Given the description of an element on the screen output the (x, y) to click on. 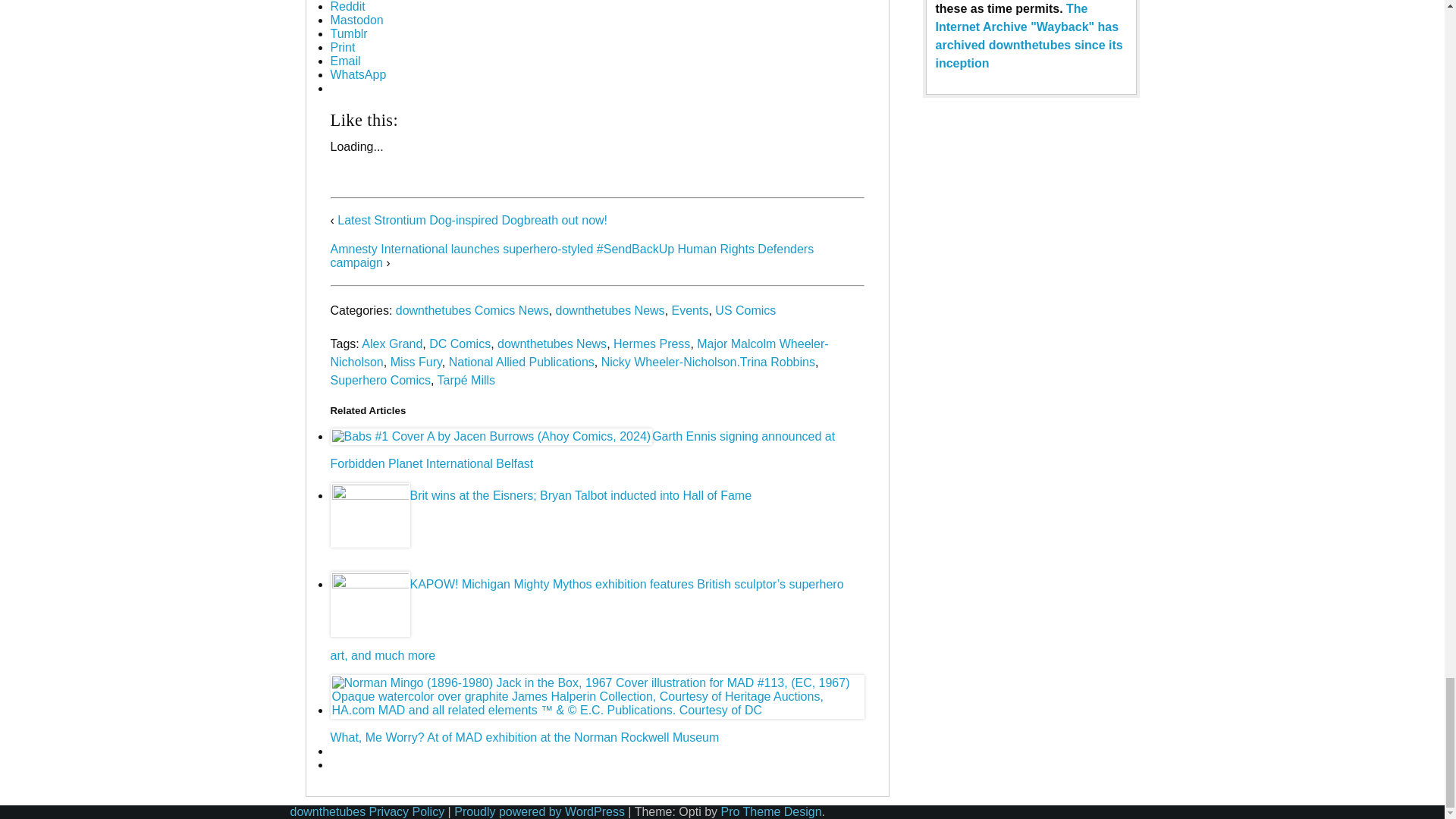
Click to share on Reddit (347, 6)
Click to share on Mastodon (357, 19)
